Given the description of an element on the screen output the (x, y) to click on. 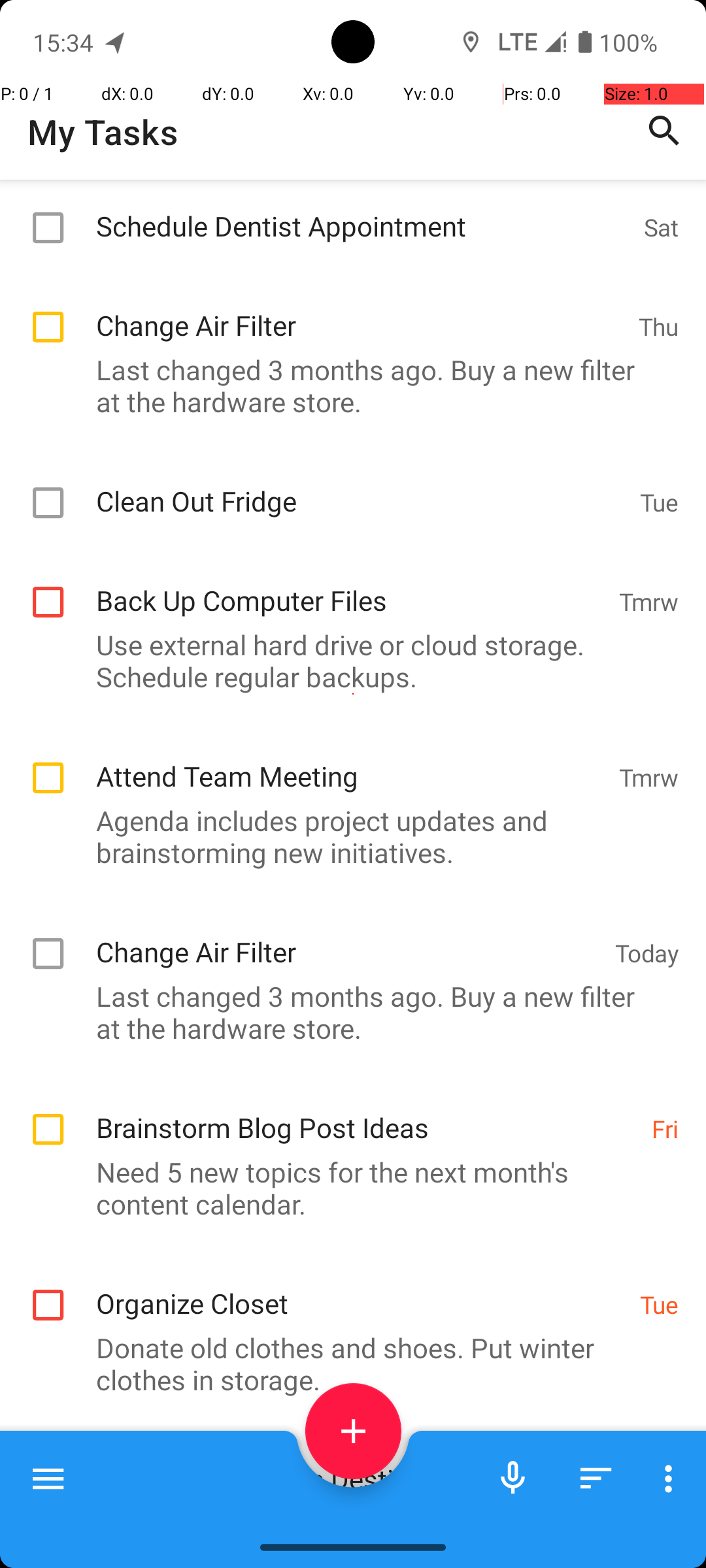
Last changed 3 months ago. Buy a new filter at the hardware store. Element type: android.widget.TextView (346, 385)
Use external hard drive or cloud storage. Schedule regular backups. Element type: android.widget.TextView (346, 660)
Agenda includes project updates and brainstorming new initiatives. Element type: android.widget.TextView (346, 835)
Brainstorm Blog Post Ideas Element type: android.widget.TextView (367, 1113)
Need 5 new topics for the next month's content calendar. Element type: android.widget.TextView (346, 1187)
Donate old clothes and shoes. Put winter clothes in storage. Element type: android.widget.TextView (346, 1363)
